Given the description of an element on the screen output the (x, y) to click on. 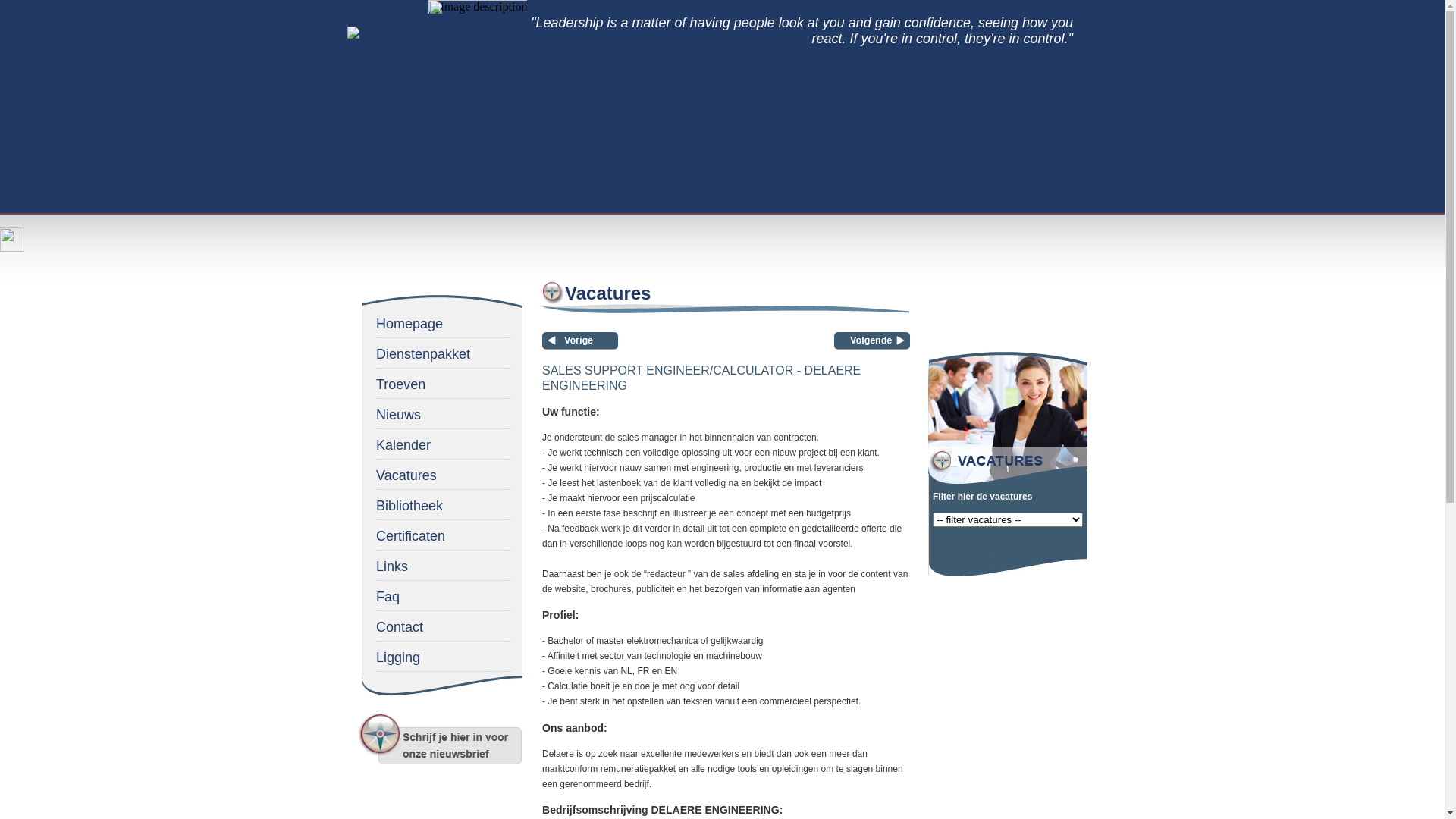
Nieuws Element type: text (441, 411)
Ligging Element type: text (441, 653)
Faq Element type: text (441, 593)
Homepage Element type: text (441, 320)
Vacatures Element type: text (441, 471)
Dienstenpakket Element type: text (441, 350)
Links Element type: text (441, 562)
Certificaten Element type: text (441, 532)
Contact Element type: text (441, 623)
Troeven Element type: text (441, 380)
Bibliotheek Element type: text (441, 502)
Kalender Element type: text (441, 441)
